Given the description of an element on the screen output the (x, y) to click on. 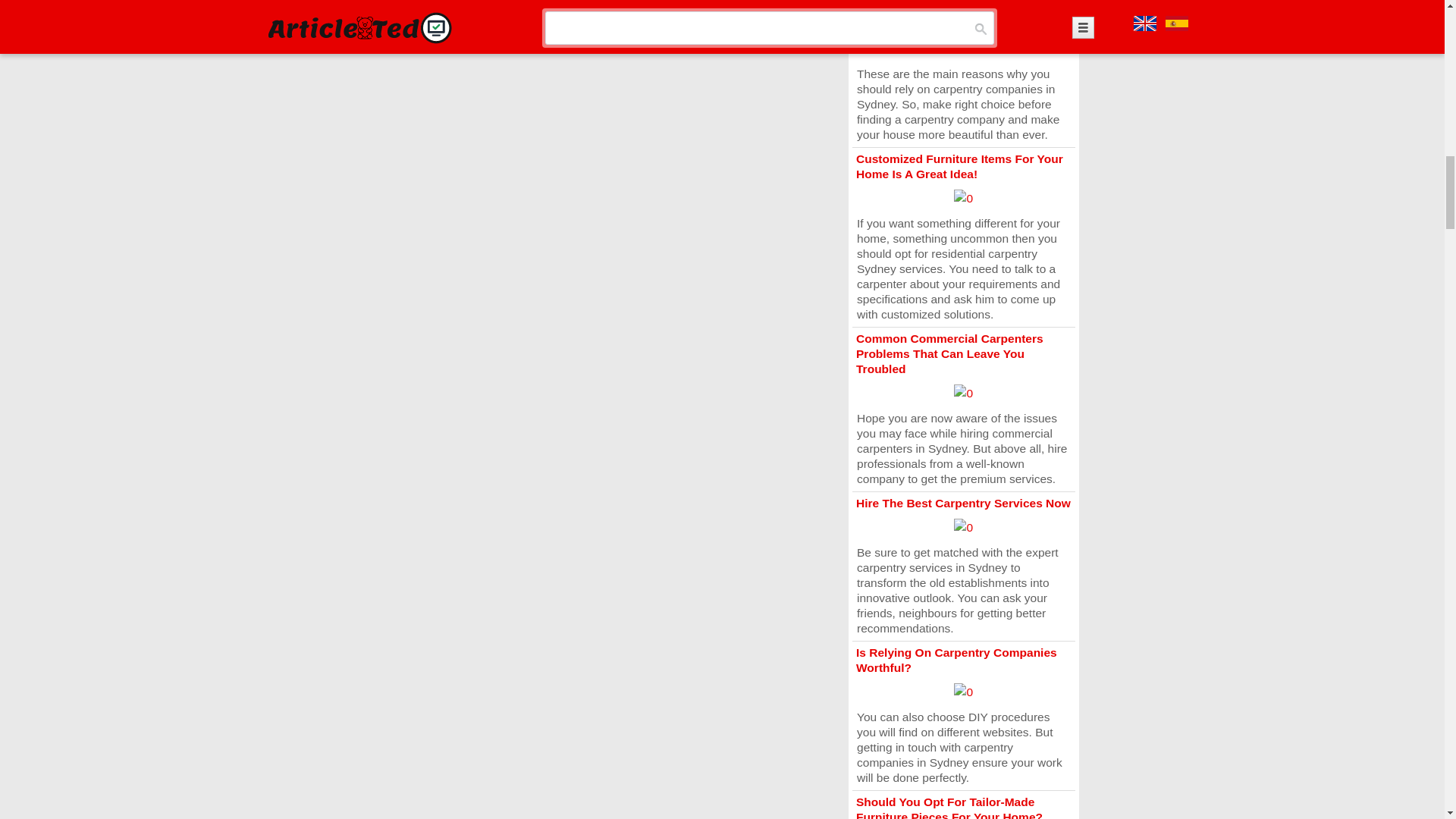
Customized Furniture Items For Your Home Is A Great Idea! (959, 166)
Hire The Best Carpentry Services Now (963, 502)
